Given the description of an element on the screen output the (x, y) to click on. 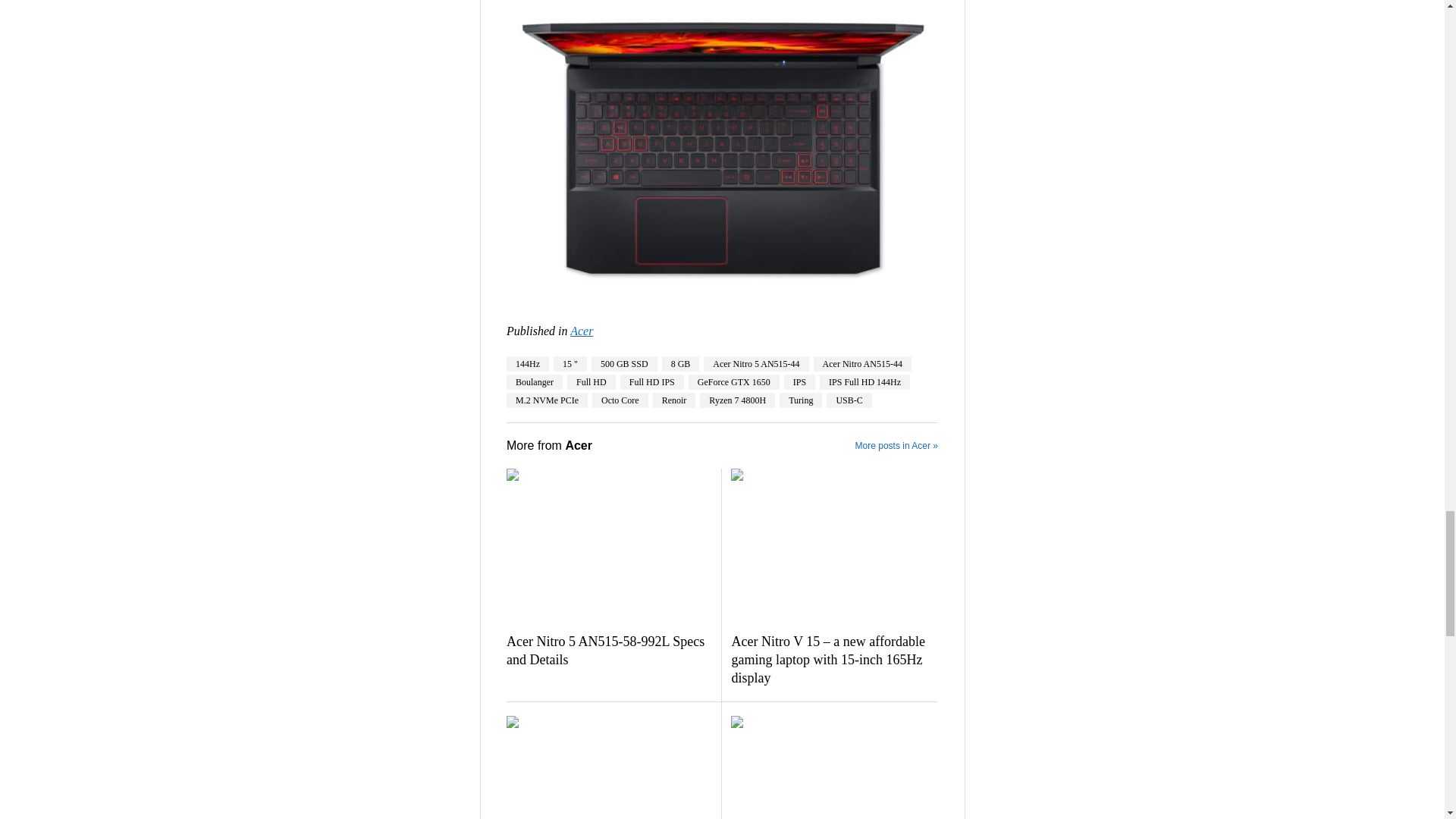
View all posts tagged Acer Nitro 5 AN515-44 (755, 363)
View all posts tagged Acer Nitro AN515-44 (862, 363)
Acer Nitro 5 AN515-44-R9XE Specs and Details (721, 149)
View all posts tagged 144Hz (527, 363)
View all posts tagged 500 GB SSD (624, 363)
View all posts tagged 8 GB (681, 363)
View all posts in Acer (581, 330)
View all posts tagged 15 " (569, 363)
